Given the description of an element on the screen output the (x, y) to click on. 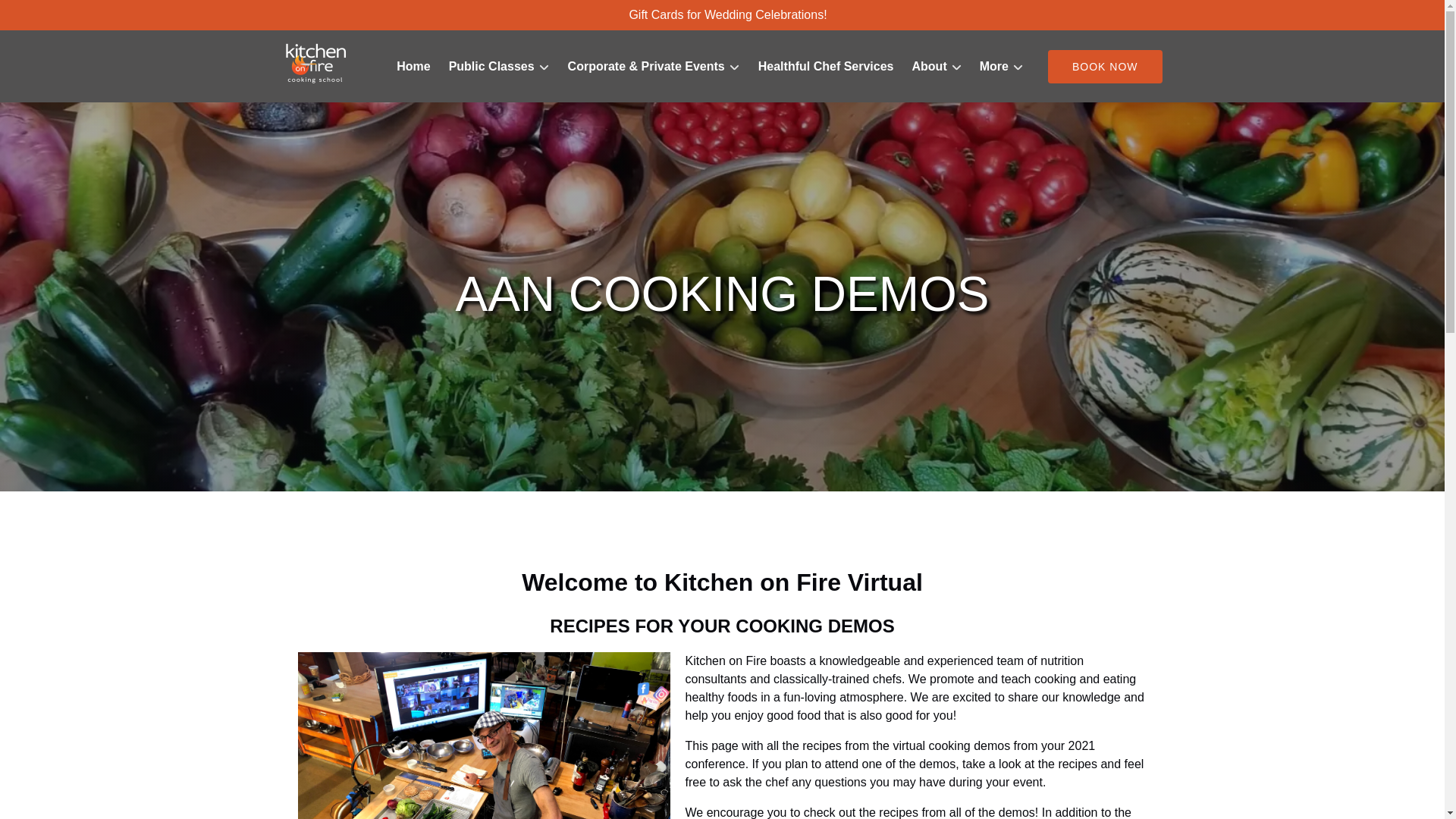
Healthful Chef Services (825, 66)
About (936, 66)
BOOK NOW (1104, 66)
Open About Menu (940, 62)
Public Classes (499, 66)
Open More Menu (1005, 62)
Home (413, 66)
Skip to primary navigation (77, 16)
Skip to content (47, 16)
Open Public Classes Menu (502, 62)
